Given the description of an element on the screen output the (x, y) to click on. 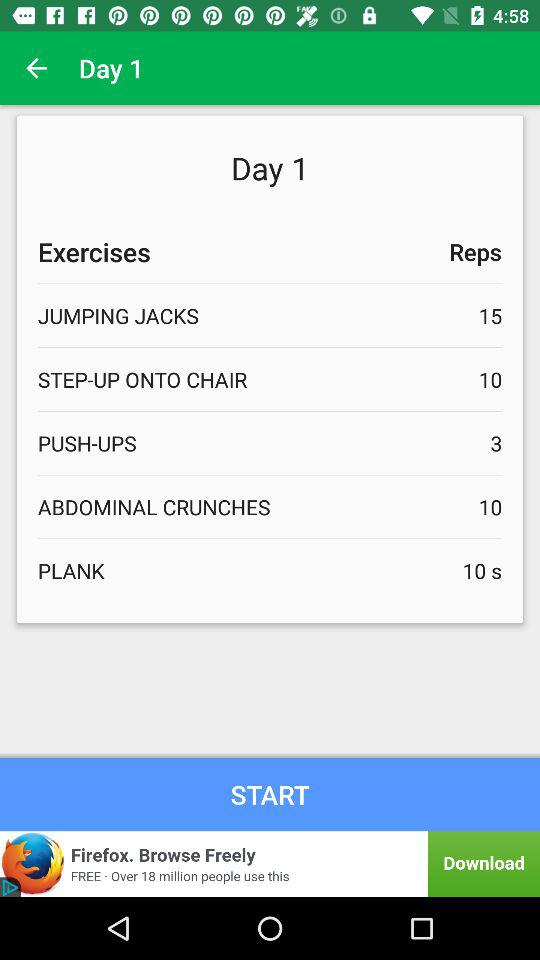
press start (270, 794)
